Given the description of an element on the screen output the (x, y) to click on. 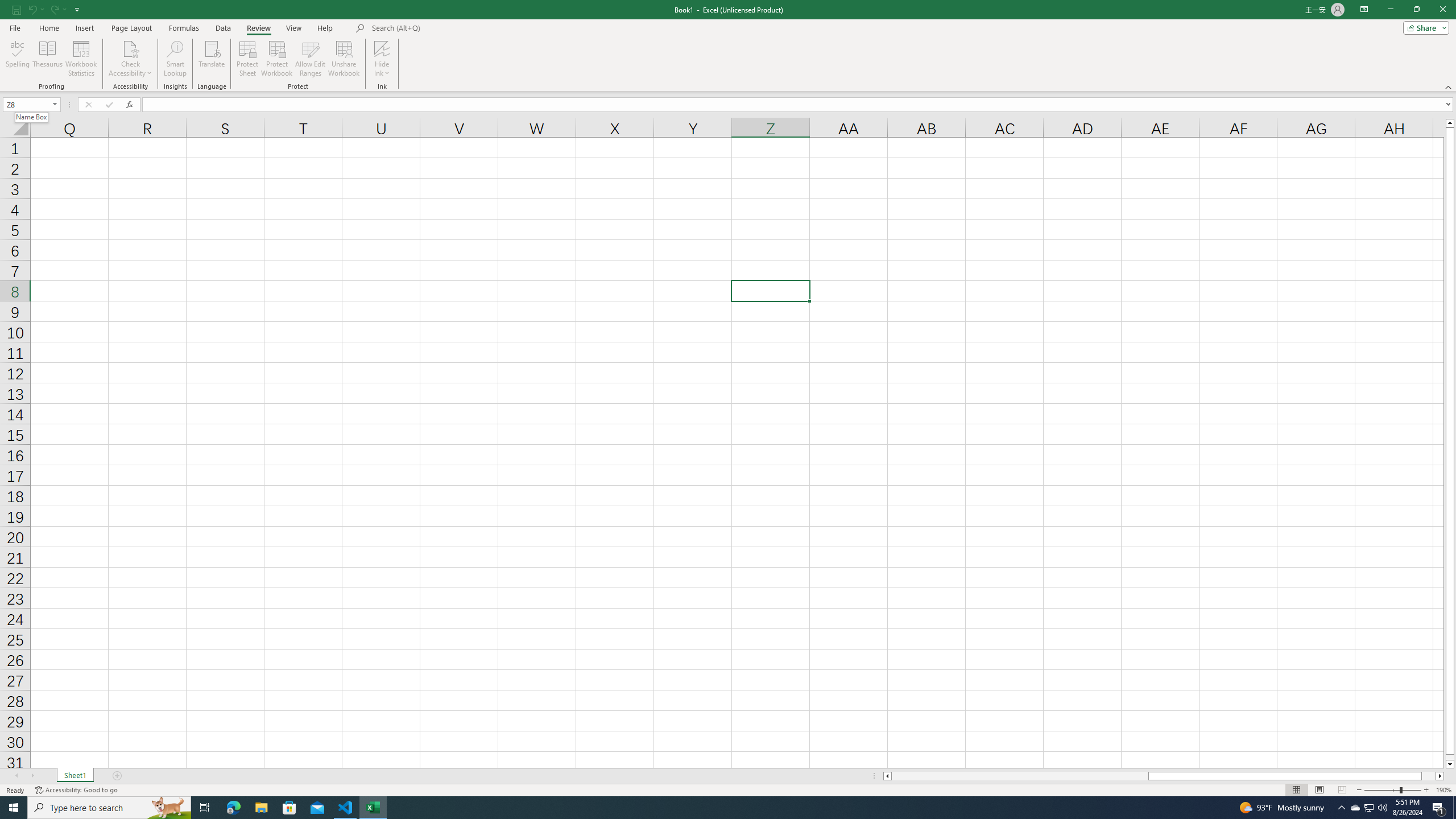
Smart Lookup (175, 58)
Check Accessibility (129, 58)
